Given the description of an element on the screen output the (x, y) to click on. 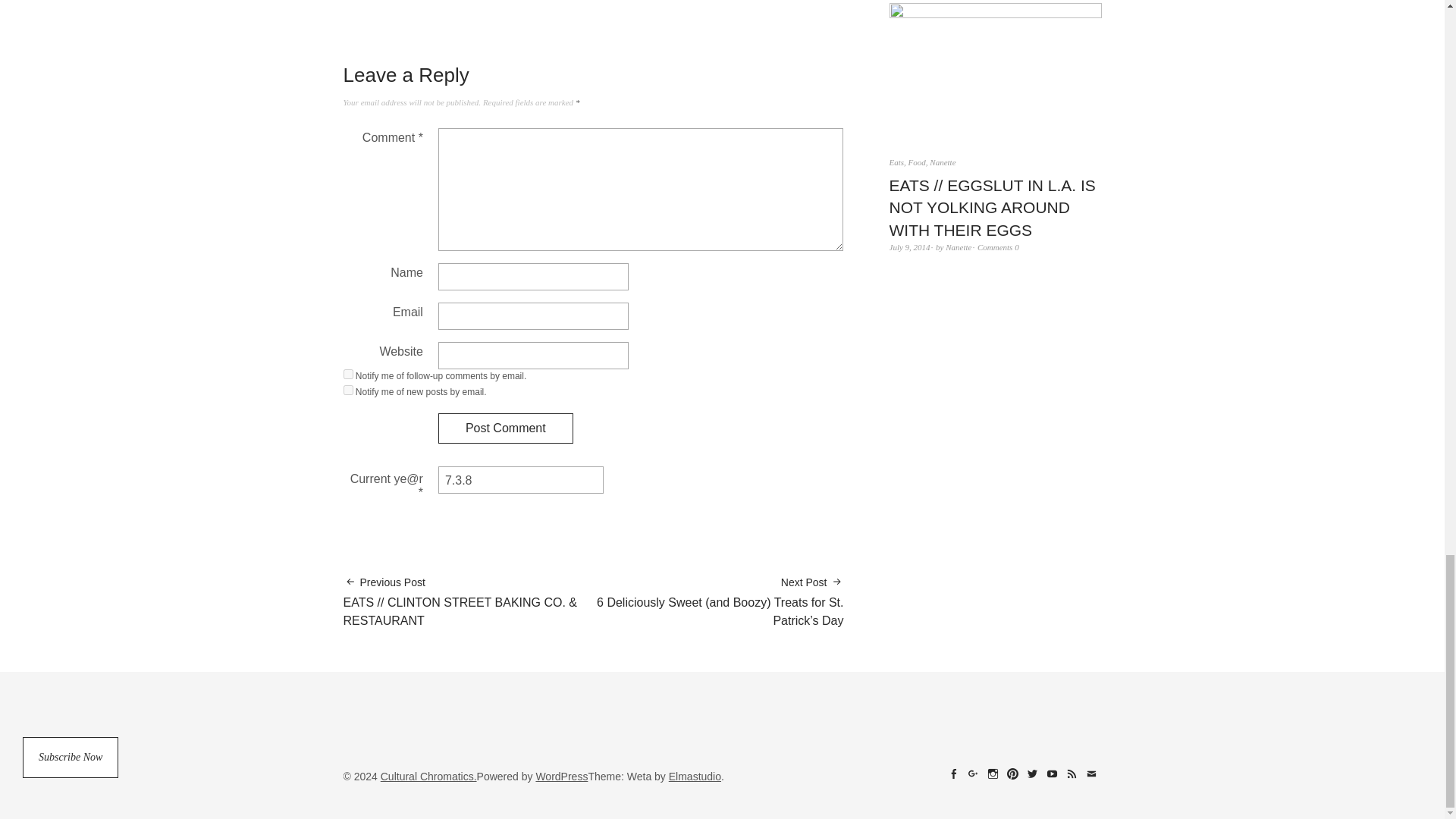
All posts by Nanette (957, 246)
subscribe (347, 374)
subscribe (347, 389)
7.3.8 (521, 479)
Post Comment (505, 428)
